Given the description of an element on the screen output the (x, y) to click on. 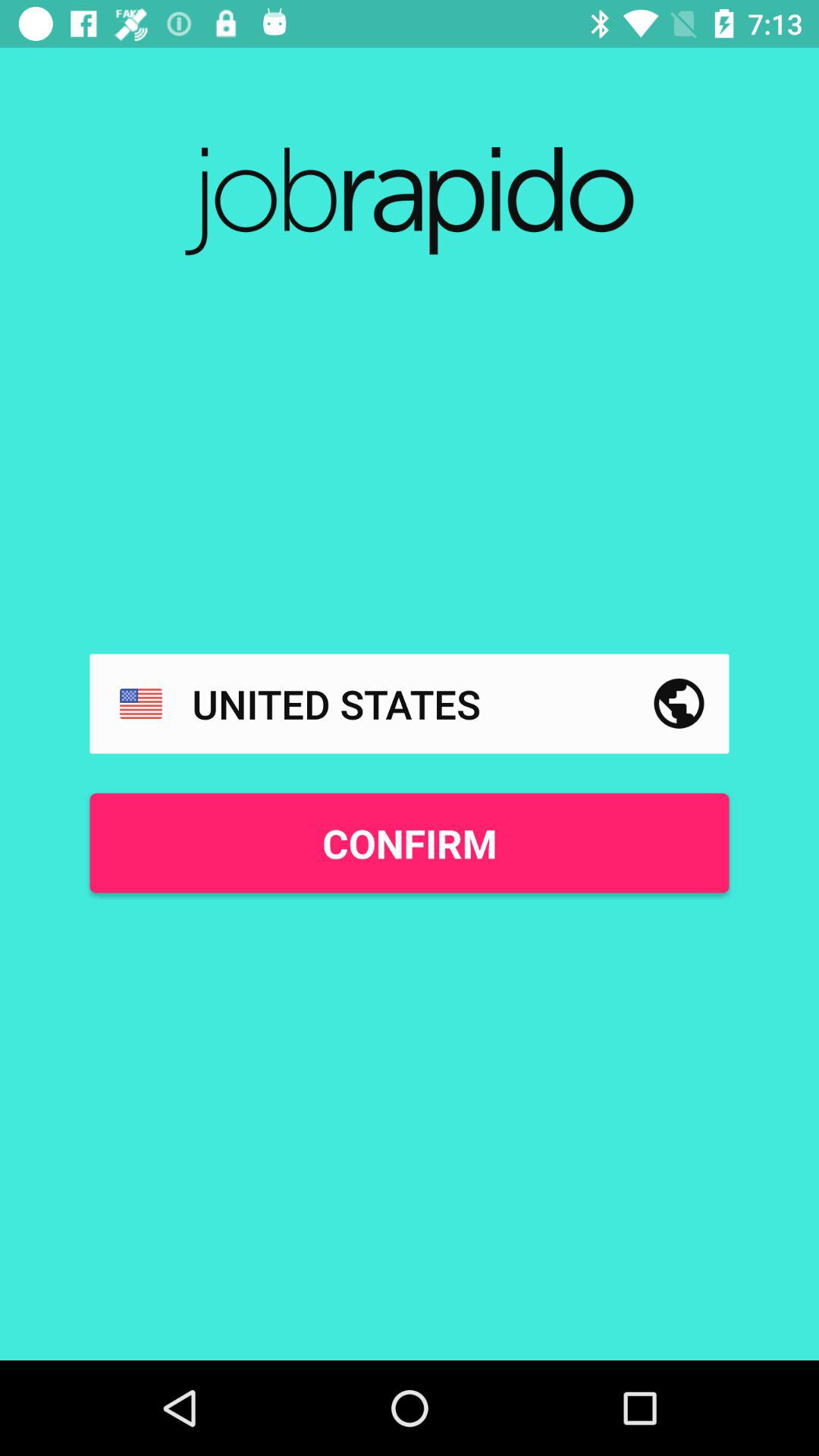
turn off the confirm icon (409, 842)
